Given the description of an element on the screen output the (x, y) to click on. 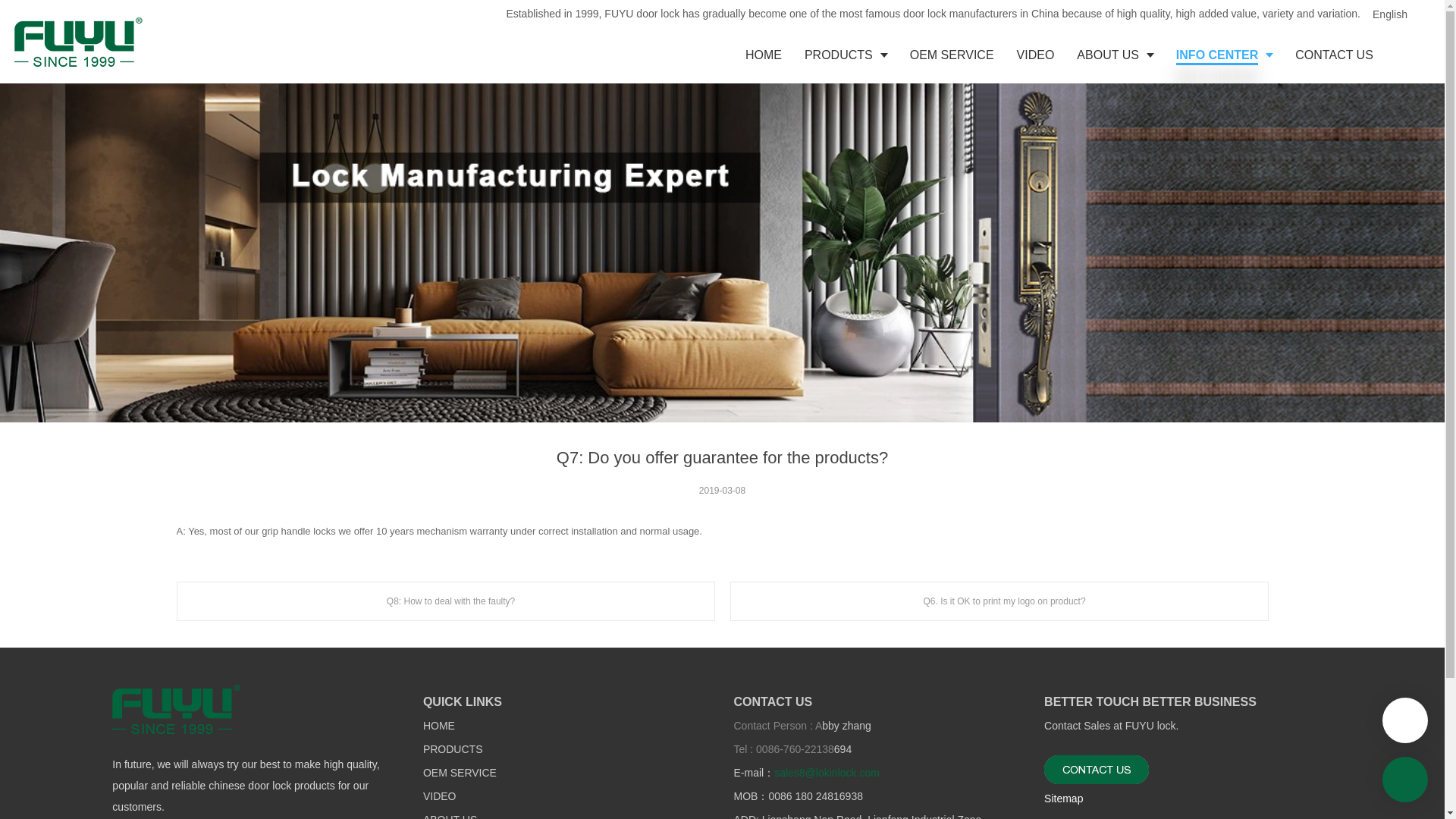
VIDEO (1035, 55)
CONTACT US (1334, 55)
PRODUCTS (845, 55)
ABOUT US (450, 816)
ABOUT US (1114, 55)
OEM SERVICE (459, 773)
Q6. Is it OK to print my logo on product? (998, 600)
Q6. Is it OK to print my logo on product? (998, 600)
Q8: How to deal with the faulty? (445, 600)
HOME (438, 726)
INFO CENTER (1224, 55)
Q8: How to deal with the faulty? (445, 600)
VIDEO (440, 796)
PRODUCTS (453, 749)
HOME (763, 55)
